Given the description of an element on the screen output the (x, y) to click on. 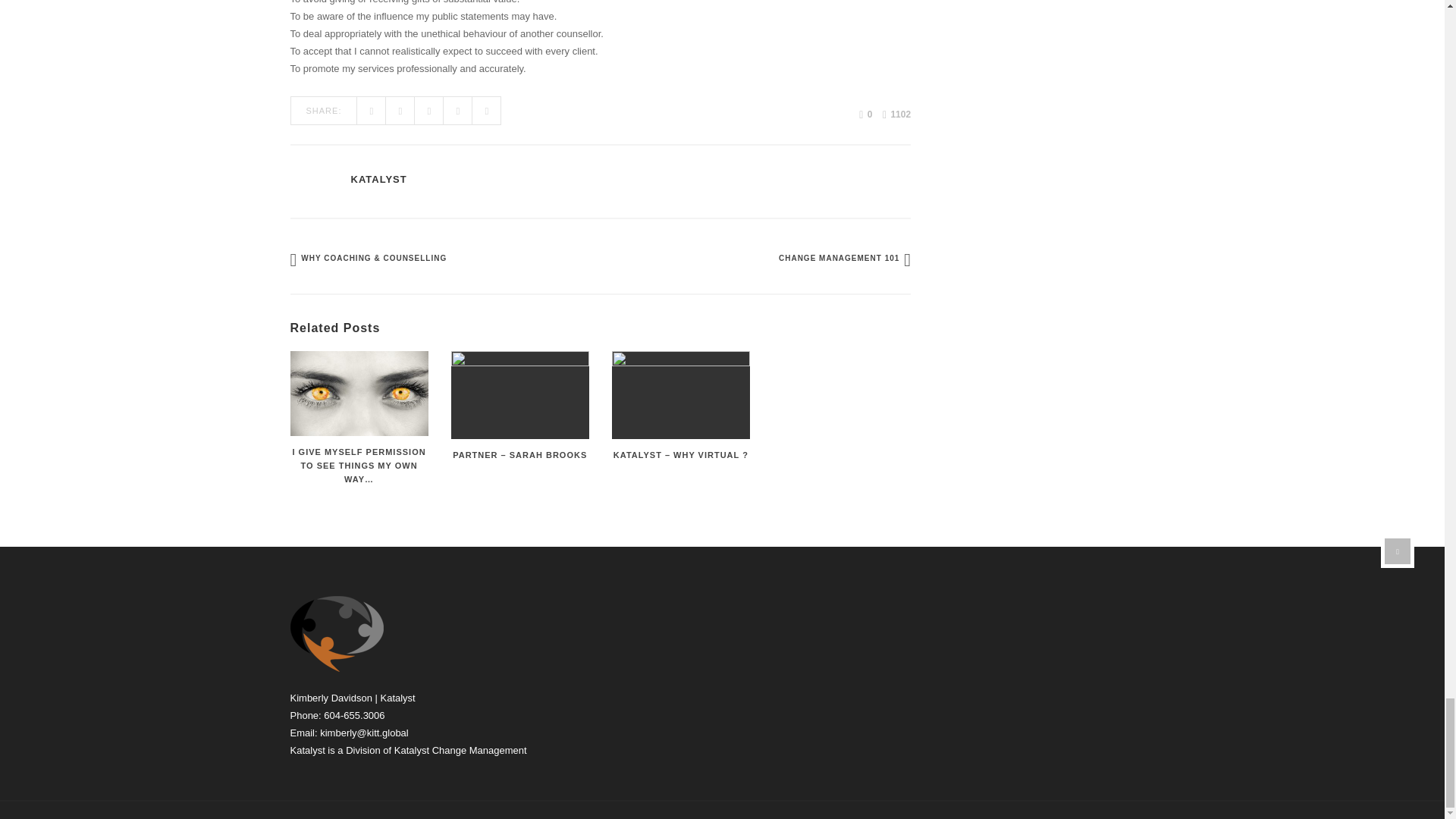
Love this (865, 113)
Share on Pinterest (457, 110)
Share on Twitter (399, 110)
Post Views (896, 114)
Change Management 101 (842, 255)
Share on LinkedIn (485, 110)
Share on Facebook (370, 110)
